Given the description of an element on the screen output the (x, y) to click on. 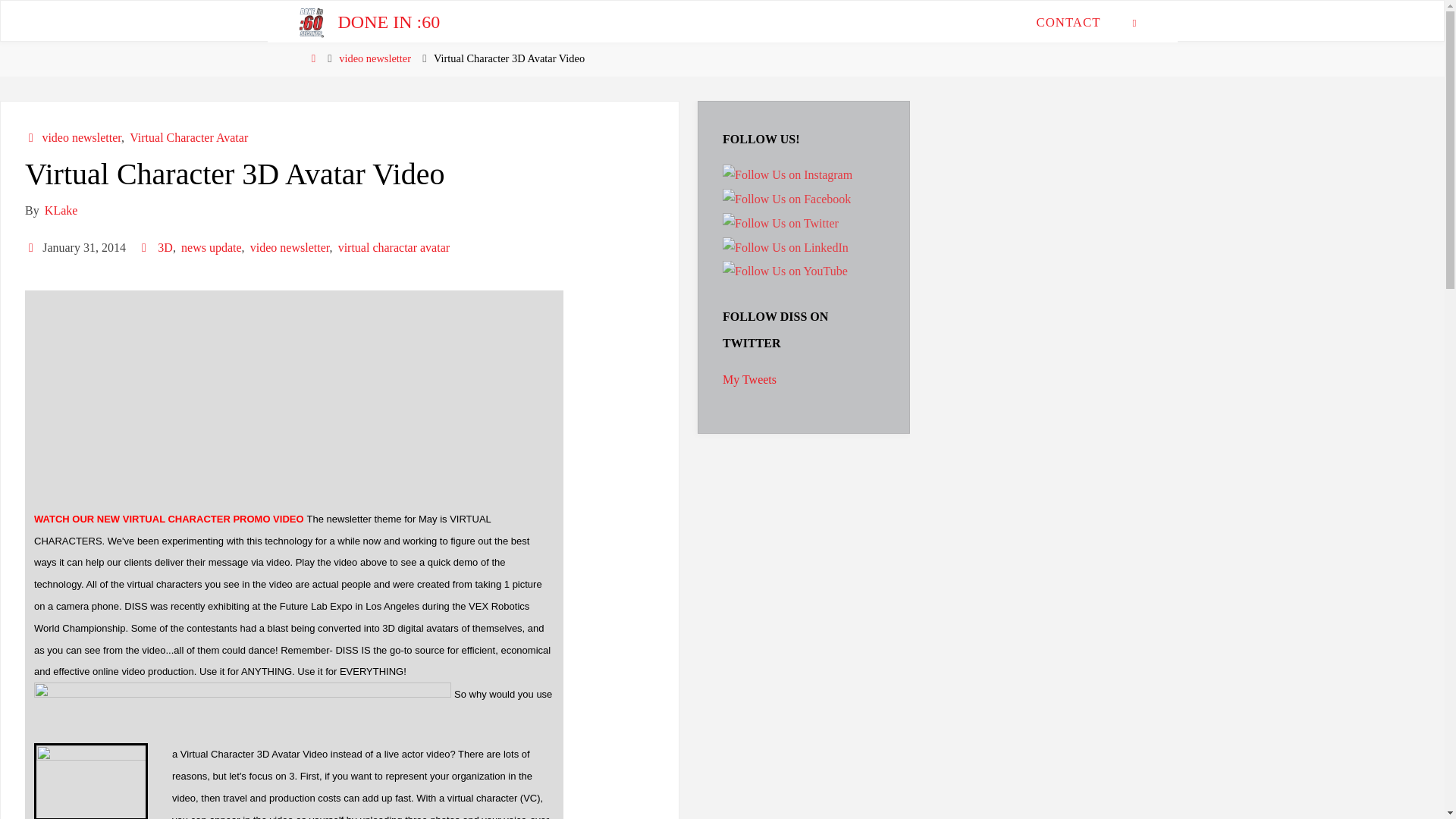
Home (312, 58)
SEARCH (1134, 21)
news update (210, 246)
Virtual Character Avatar (187, 137)
DONE IN :60 (389, 21)
CONTACT (1068, 21)
virtual charactar avatar (391, 246)
video newsletter (374, 58)
3D (164, 246)
My Tweets (749, 379)
video newsletter (288, 246)
Home (312, 58)
prospermediatv (786, 199)
prospermediatv (780, 223)
Contact Done in Sixty Seconds (1068, 21)
